Given the description of an element on the screen output the (x, y) to click on. 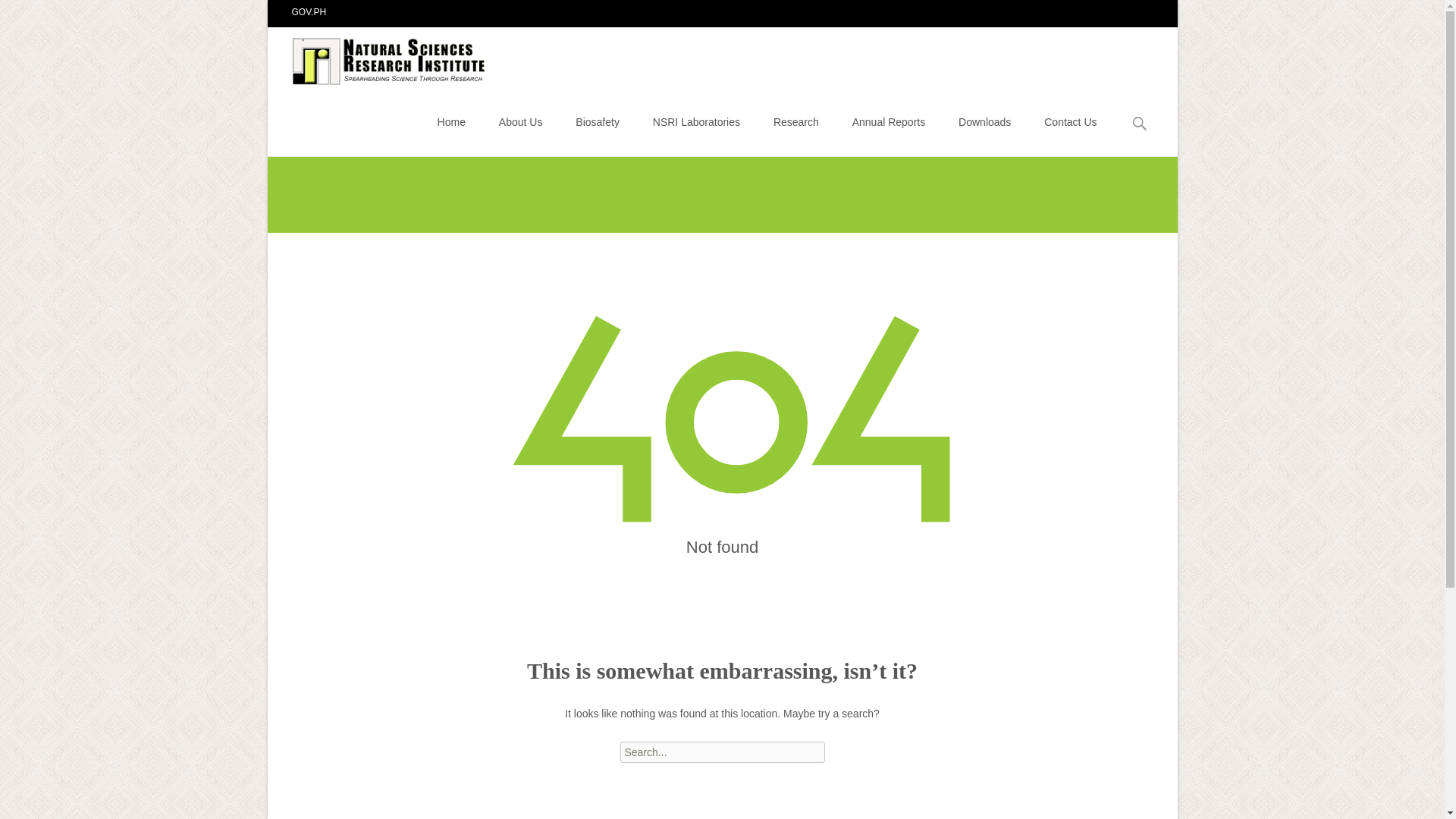
NSRI Laboratories (695, 121)
Search for: (722, 752)
Search for: (1139, 123)
Search (18, 14)
Search (34, 14)
Natural Sciences Research Institute (378, 57)
Annual Reports (888, 121)
GOV.PH (308, 11)
